Given the description of an element on the screen output the (x, y) to click on. 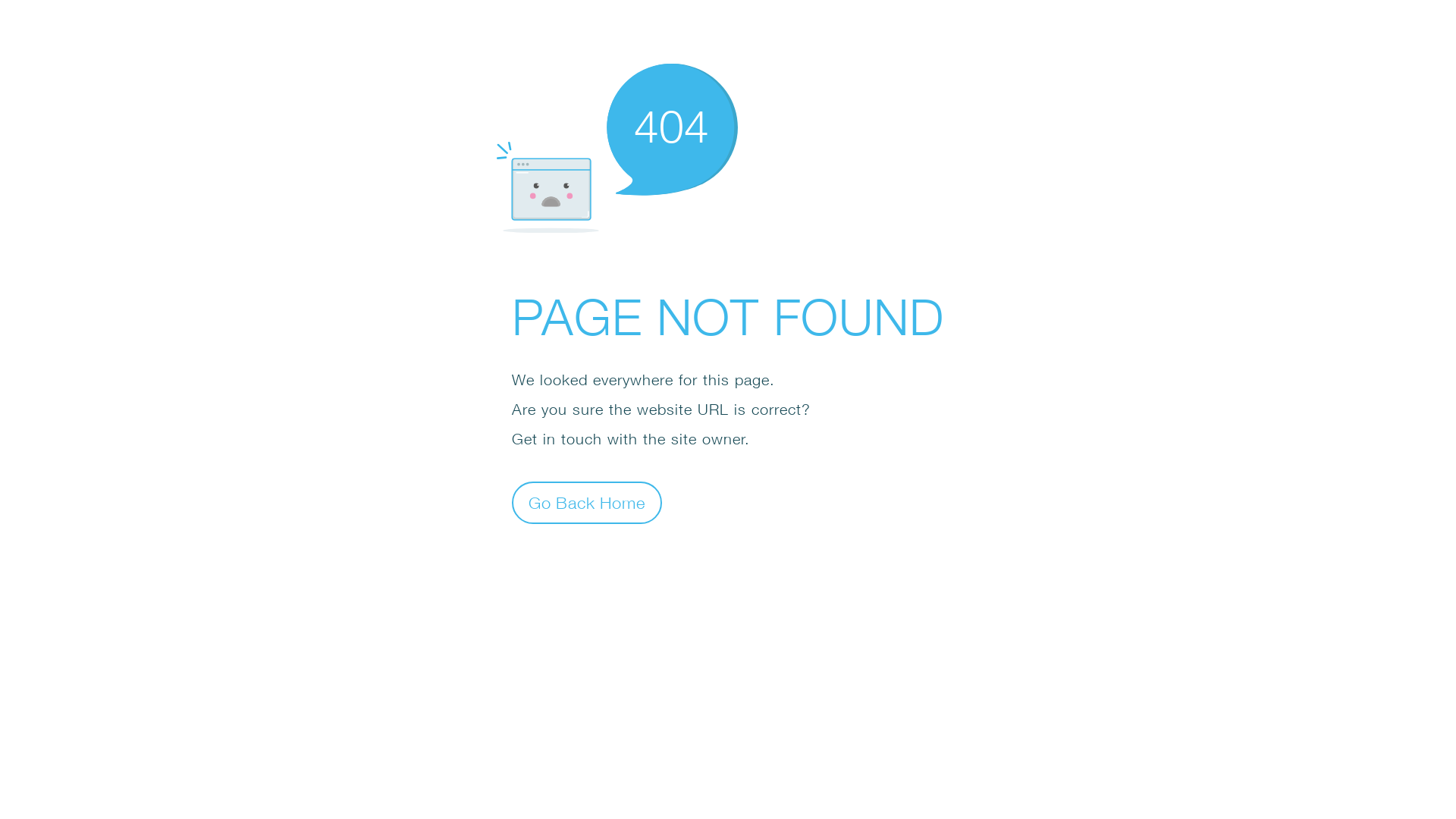
Go Back Home Element type: text (586, 502)
